Given the description of an element on the screen output the (x, y) to click on. 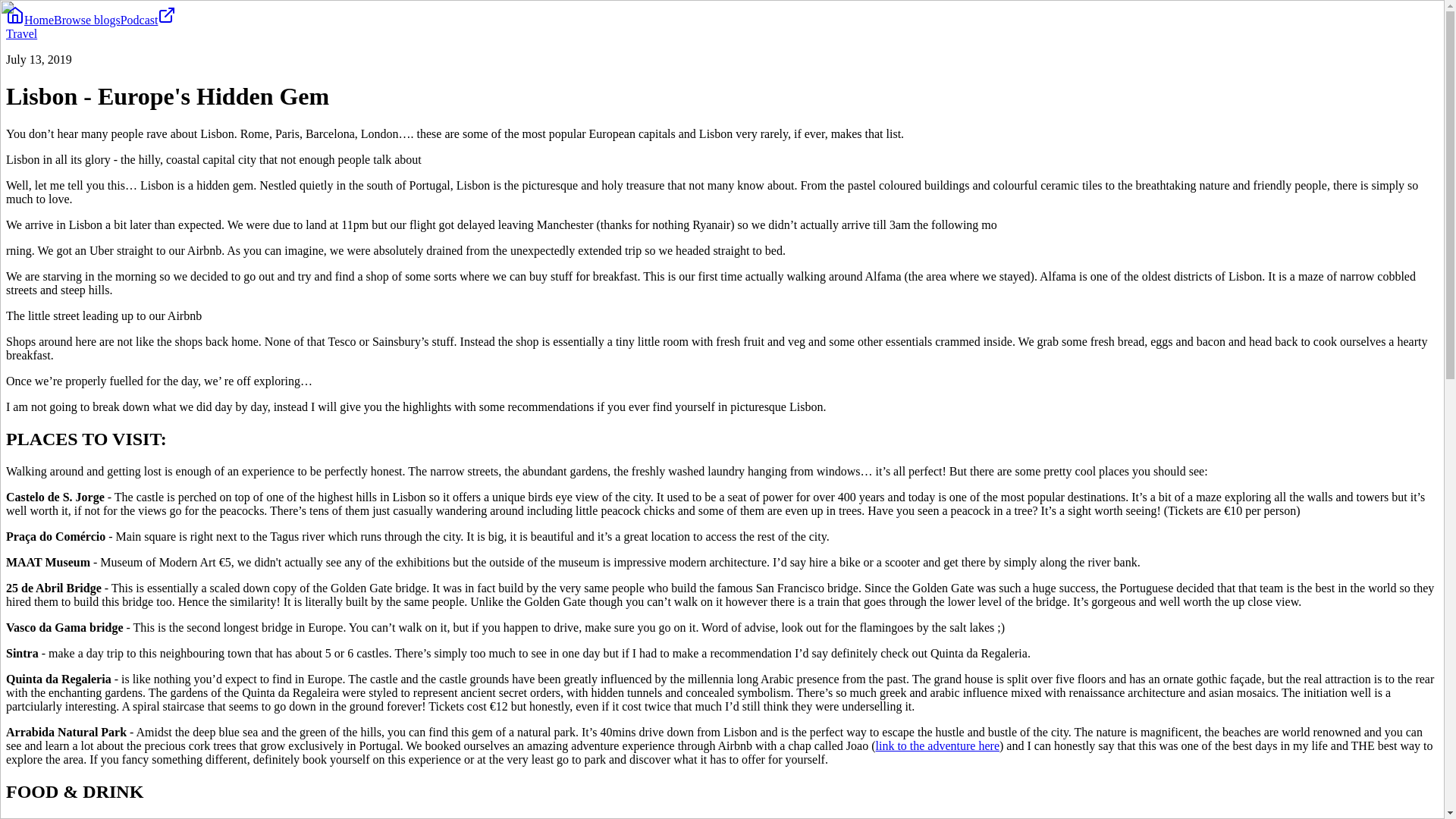
Home (29, 19)
Browse blogs (86, 19)
Travel (21, 33)
Podcast (148, 19)
link to the adventure here (936, 745)
